Given the description of an element on the screen output the (x, y) to click on. 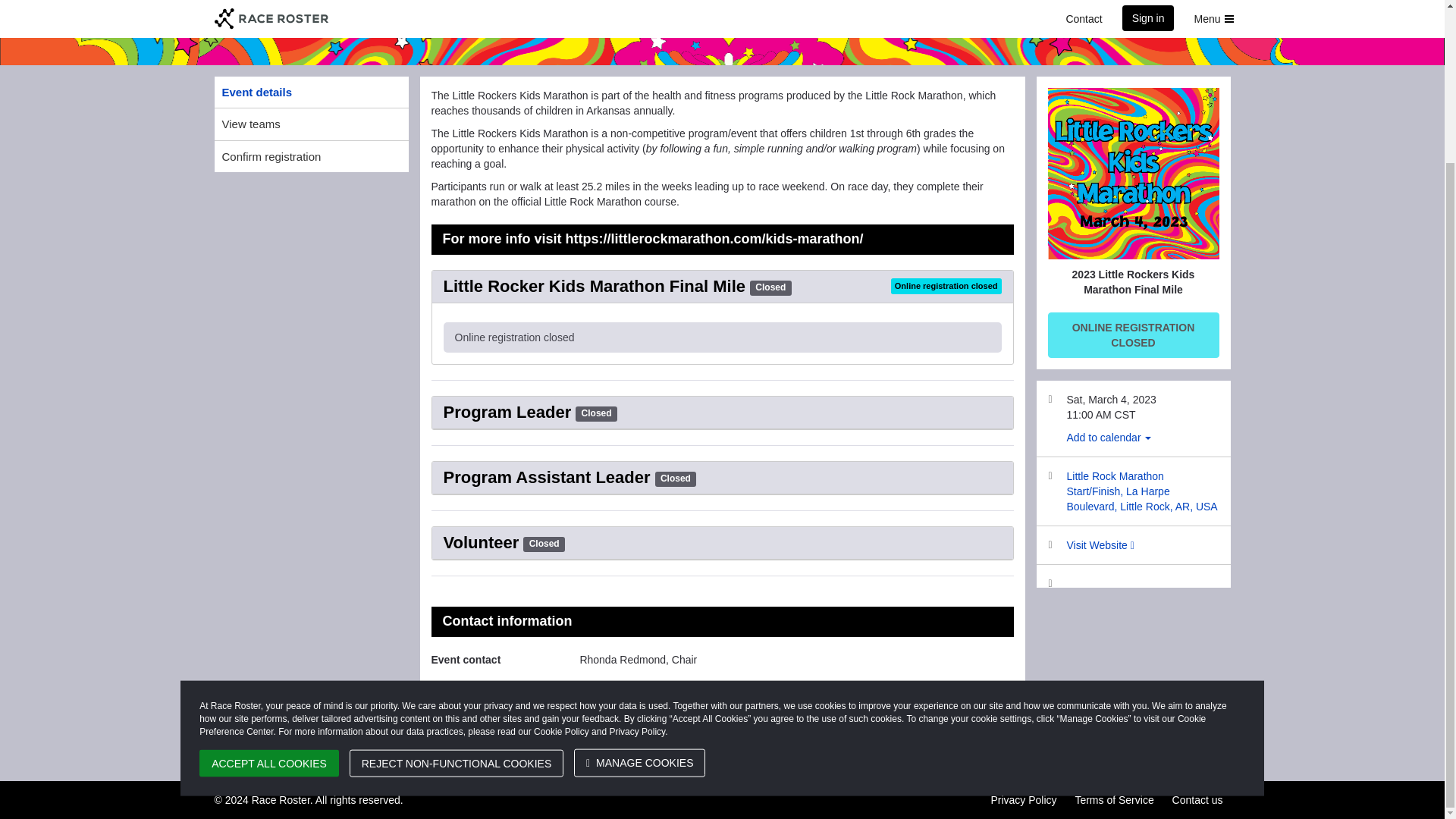
Add to calendar (1108, 437)
Event details (310, 91)
ONLINE REGISTRATION CLOSED (1134, 334)
REJECT NON-FUNCTIONAL COOKIES (456, 569)
Confirm registration (310, 155)
View teams (310, 123)
Visit Website (1099, 544)
MANAGE COOKIES (638, 570)
ACCEPT ALL COOKIES (269, 569)
